Given the description of an element on the screen output the (x, y) to click on. 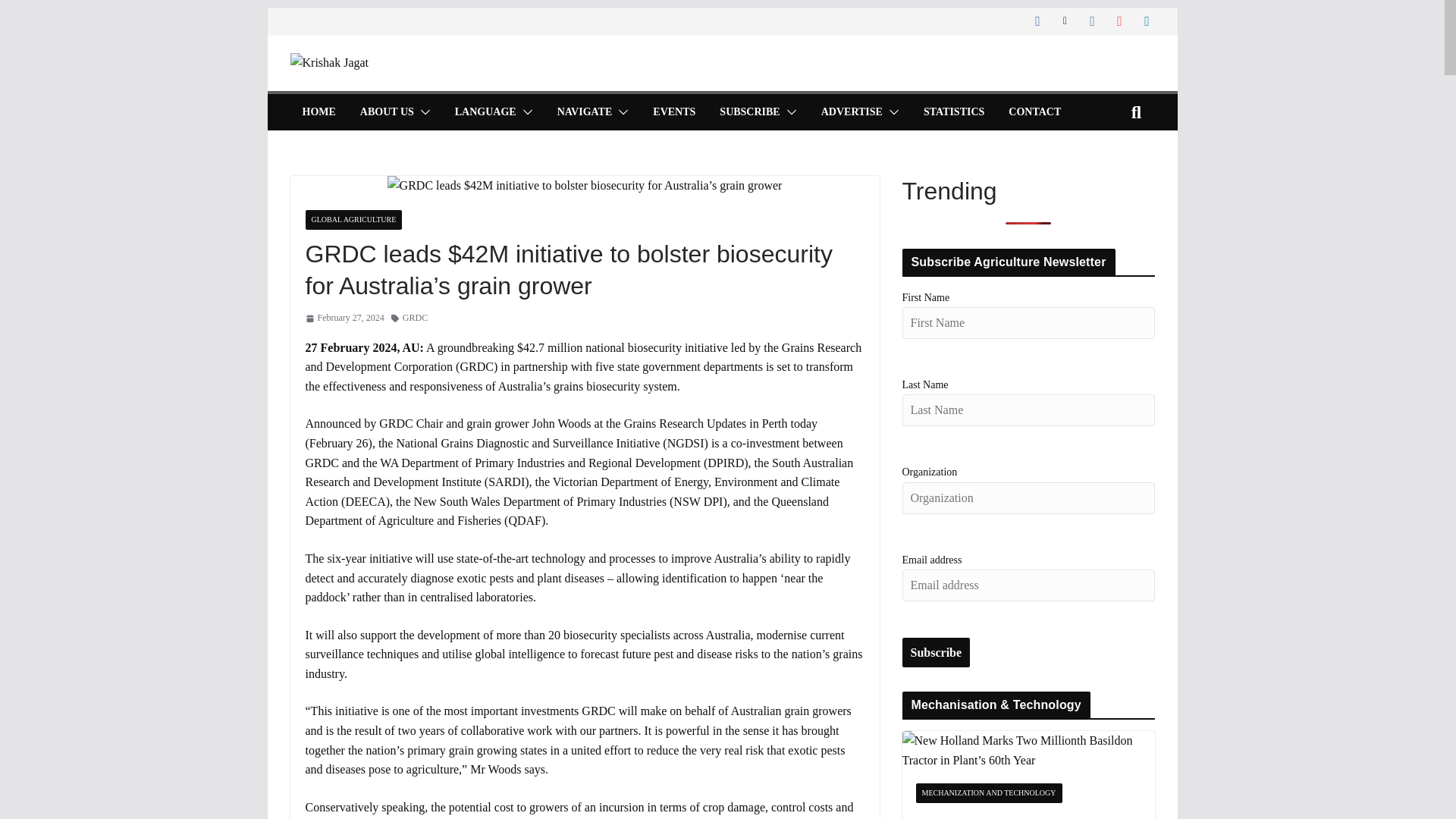
NAVIGATE (584, 111)
Subscribe (936, 653)
SUBSCRIBE (748, 111)
EVENTS (673, 111)
10:13 am (344, 318)
ADVERTISE (851, 111)
LANGUAGE (485, 111)
ABOUT US (386, 111)
HOME (317, 111)
